Given the description of an element on the screen output the (x, y) to click on. 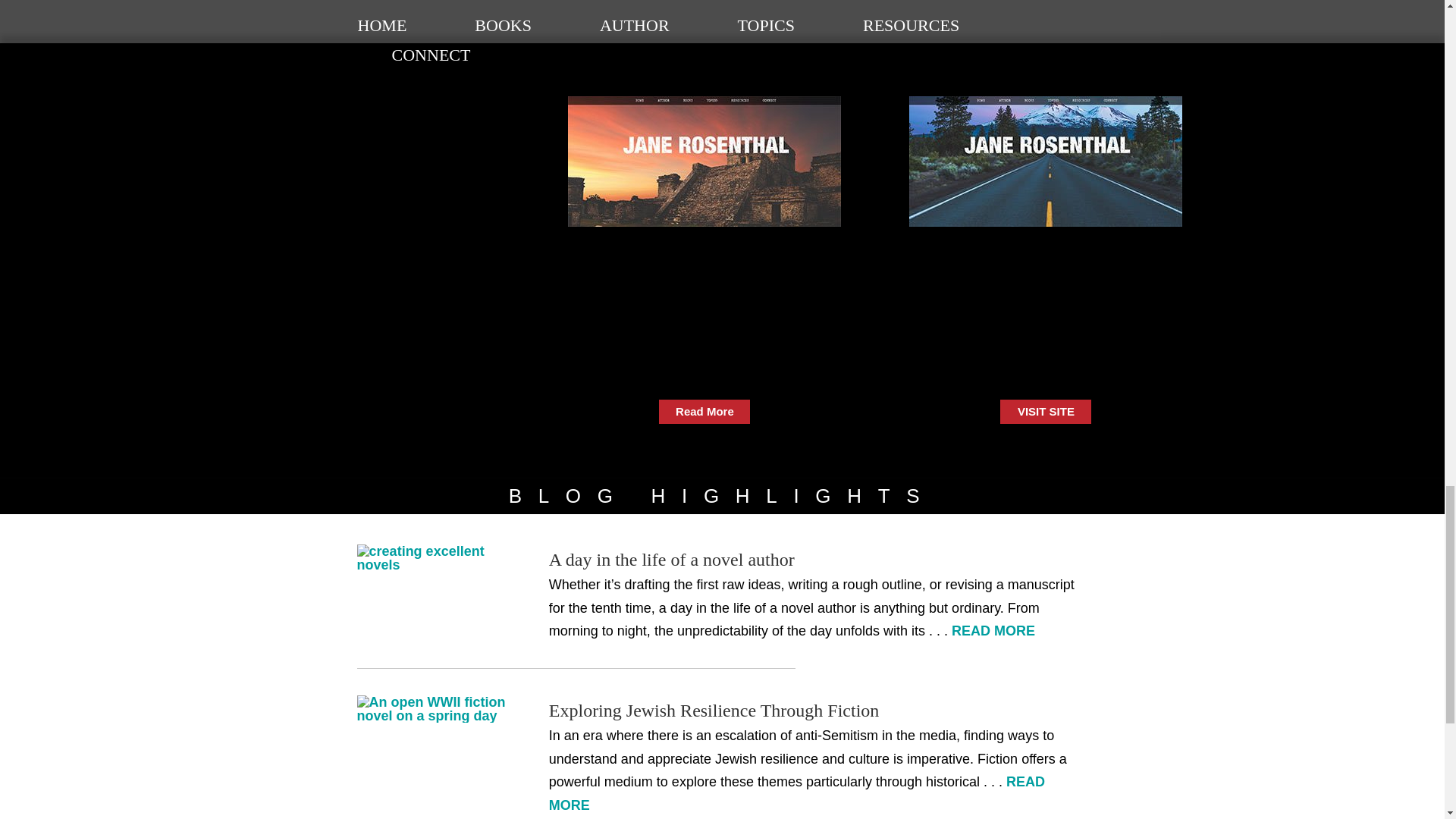
Exploring Jewish Resilience Through Fiction (713, 710)
A day in the life of a novel author (671, 559)
A day in the life of a novel author (434, 557)
Exploring Jewish Resilience Through Fiction (434, 708)
Read More (704, 411)
VISIT SITE (1045, 411)
